Given the description of an element on the screen output the (x, y) to click on. 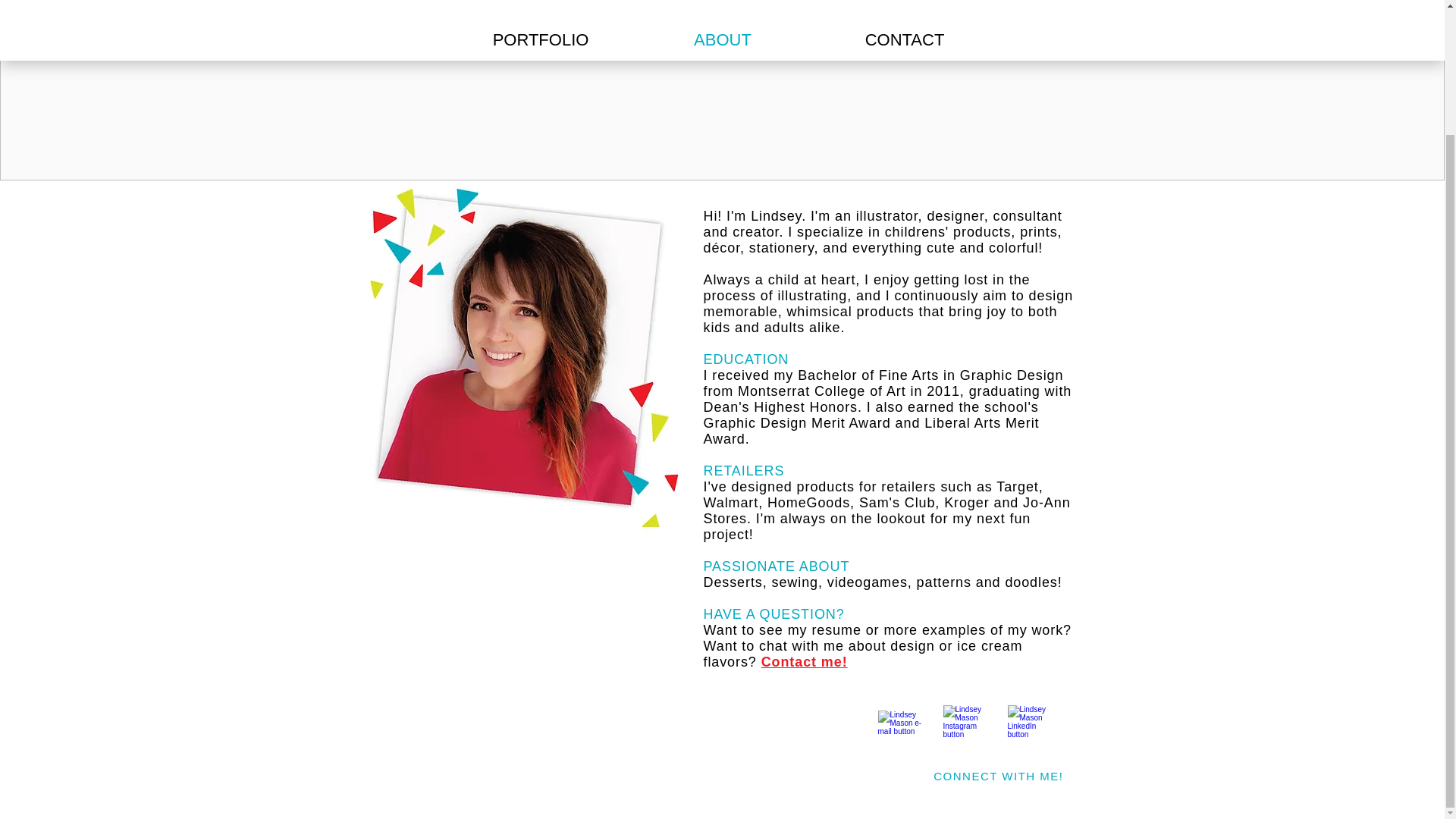
Contact me! (804, 661)
